Given the description of an element on the screen output the (x, y) to click on. 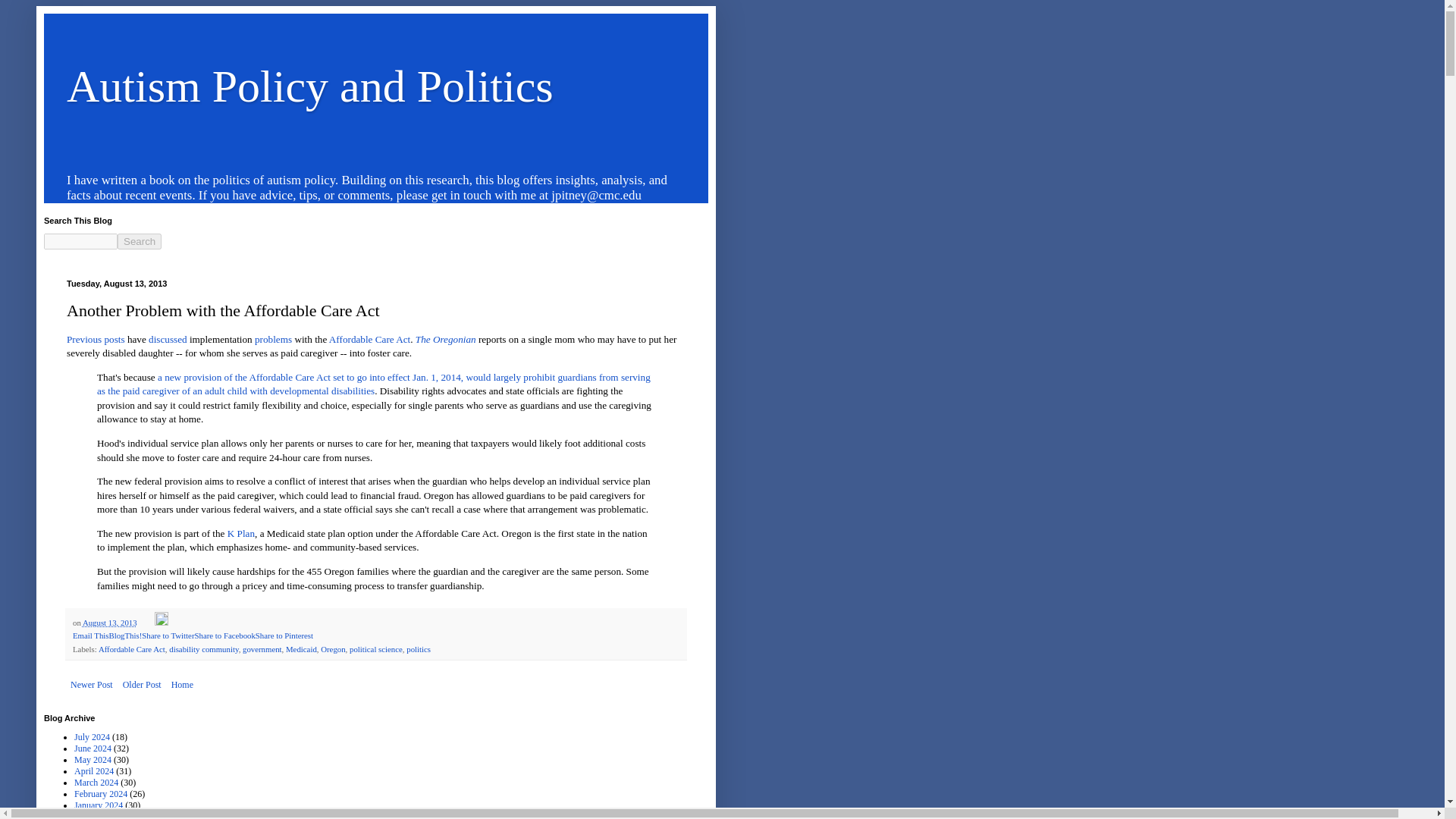
Autism Policy and Politics (309, 86)
Oregon (332, 648)
April 2024 (93, 770)
Share to Facebook (223, 634)
Share to Facebook (223, 634)
Share to Twitter (167, 634)
June 2024 (93, 747)
Older Post (142, 684)
Newer Post (91, 684)
March 2024 (95, 782)
Home (181, 684)
Email This (89, 634)
Search (139, 241)
Email This (89, 634)
